Given the description of an element on the screen output the (x, y) to click on. 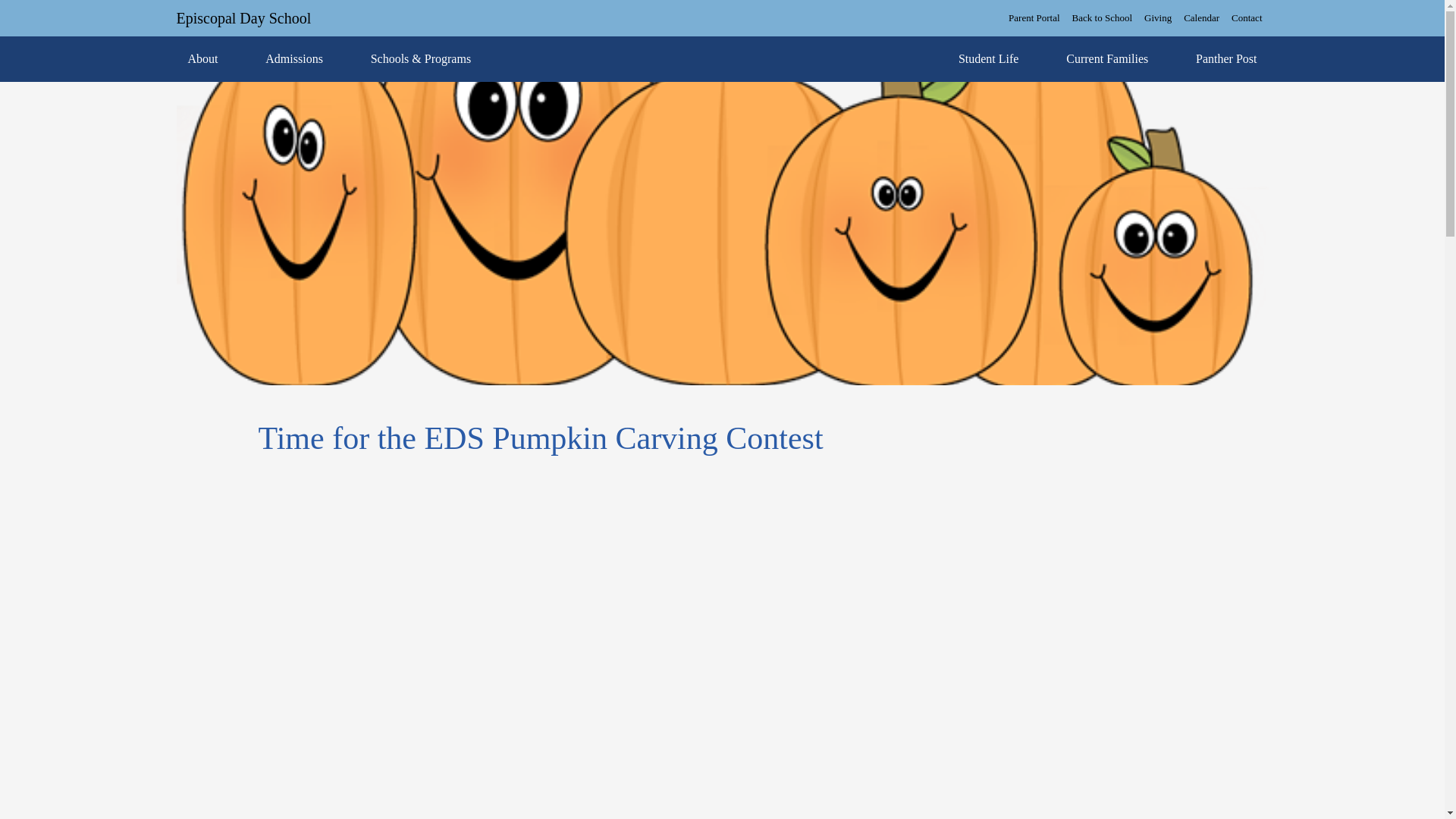
Student Life (988, 58)
Contact (1246, 17)
Calendar (1201, 17)
Back to School (1101, 17)
Parent Portal (1034, 17)
Admissions (293, 58)
About (202, 58)
Spacer (713, 58)
Current Families (1106, 58)
Episcopal Day School (243, 17)
